Given the description of an element on the screen output the (x, y) to click on. 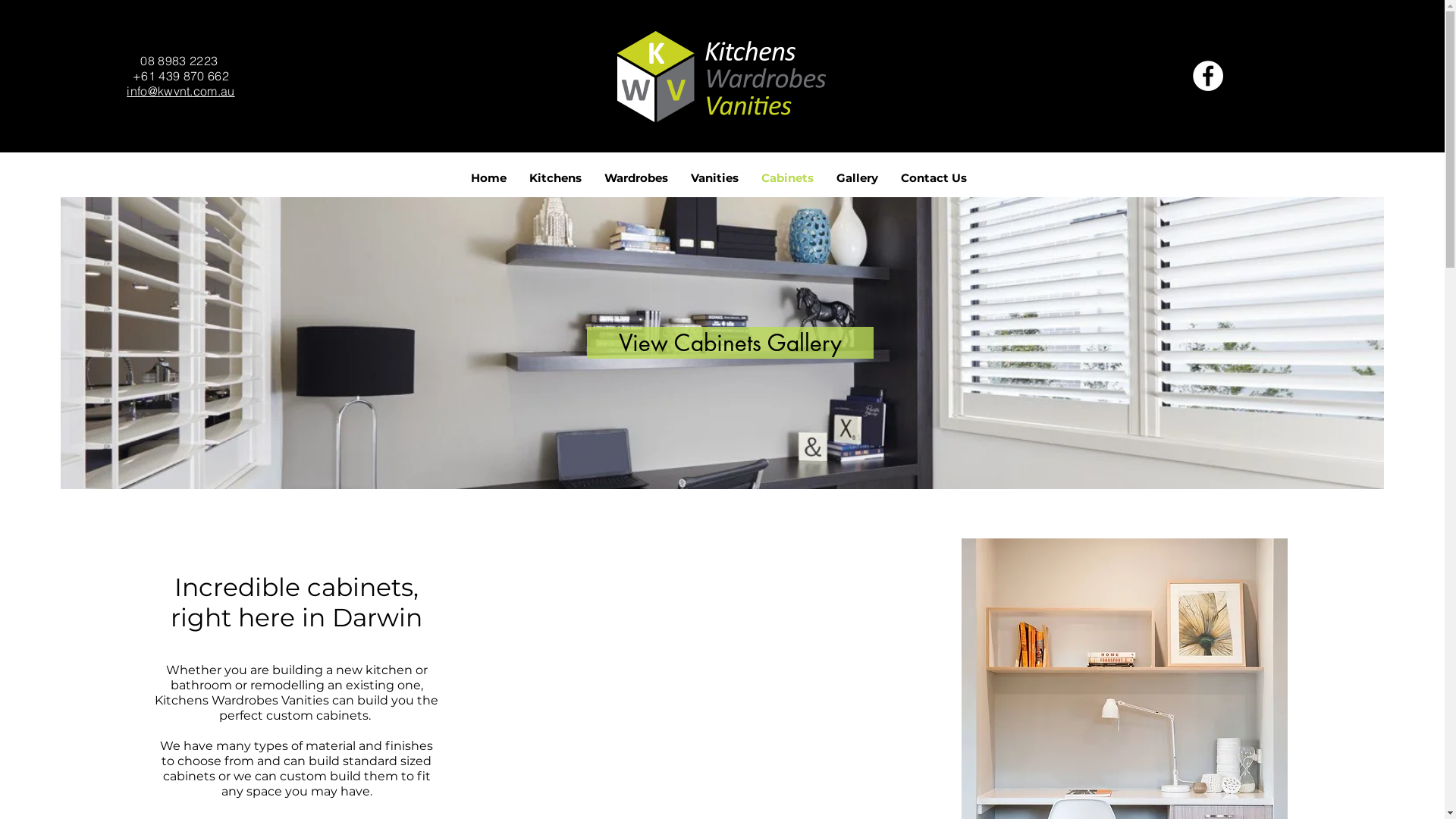
Gallery Element type: text (857, 178)
+61 439 870 662 Element type: text (180, 75)
Contact Us Element type: text (932, 178)
Home Element type: text (488, 178)
08 8983 2223 Element type: text (178, 60)
Cabinets Element type: text (786, 178)
info@kwvnt.com.au Element type: text (180, 90)
View Cabinets Gallery Element type: text (729, 342)
Wardrobes Element type: text (636, 178)
Kitchens Element type: text (554, 178)
Vanities Element type: text (714, 178)
